Given the description of an element on the screen output the (x, y) to click on. 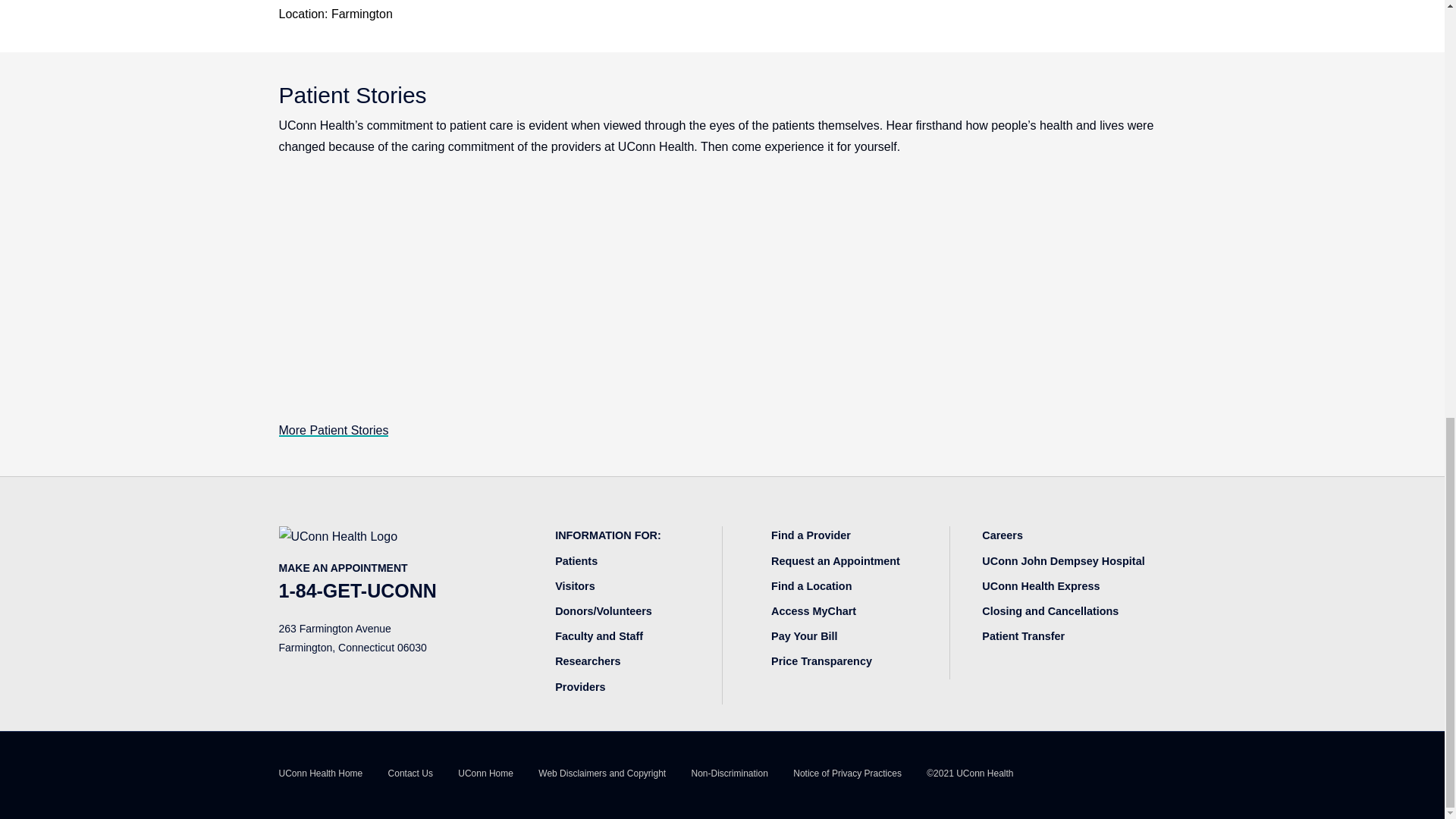
Pay Your Bill (804, 635)
More Patient Stories (333, 430)
3D Printing Technology Benefits Breast Cancer Survivors (1027, 291)
Visitors (574, 585)
Pickleball Champ Credits UConn Health for Success (722, 291)
Find a Provider (810, 535)
Patients (575, 561)
Access MyChart (813, 611)
Faculty and Staff (598, 635)
Researchers (587, 661)
Providers (579, 686)
Price Transparency (821, 661)
Find a Location (811, 585)
Request an Appointment (835, 561)
